Given the description of an element on the screen output the (x, y) to click on. 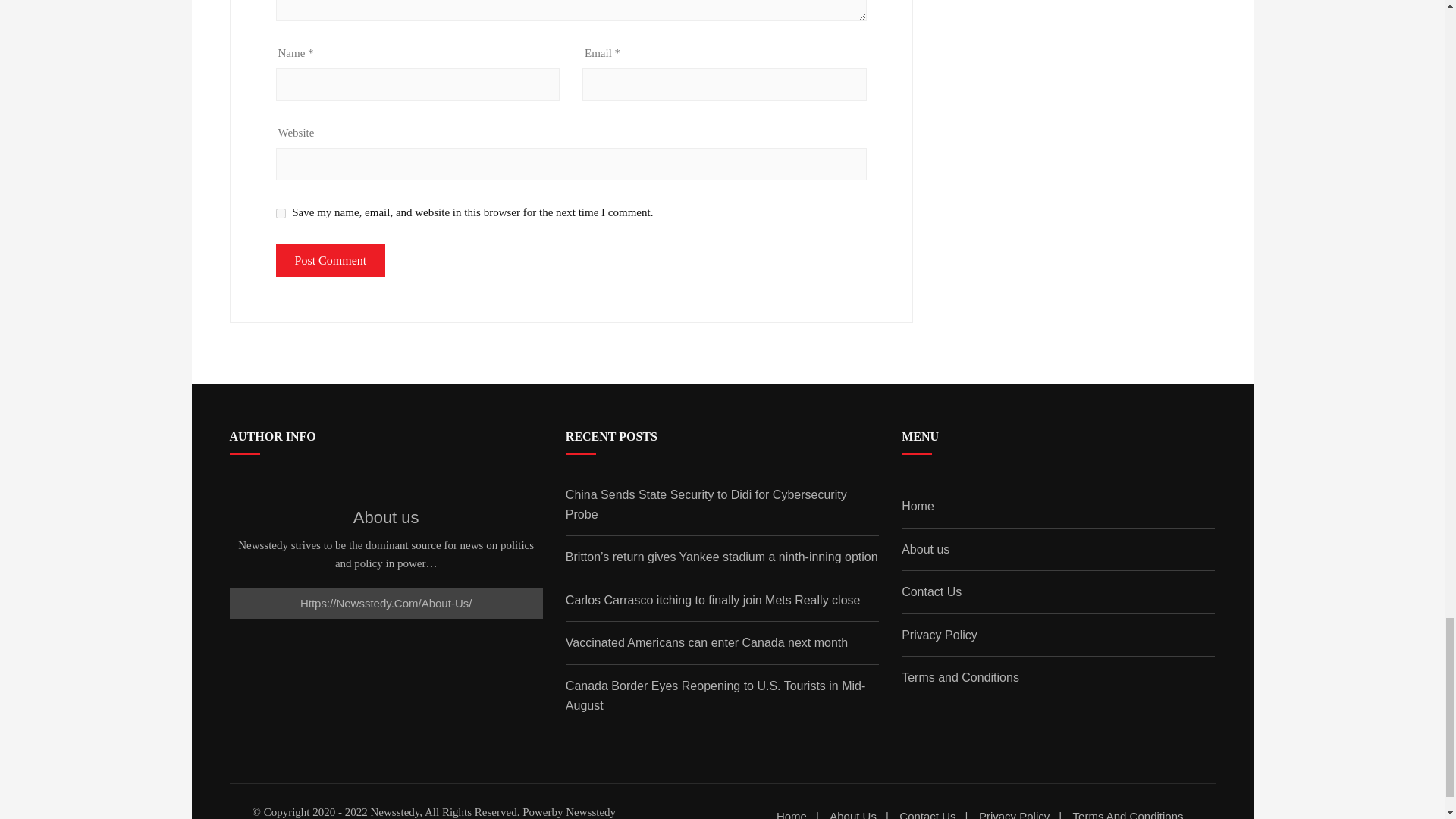
Post Comment (330, 260)
Post Comment (330, 260)
yes (280, 213)
